Given the description of an element on the screen output the (x, y) to click on. 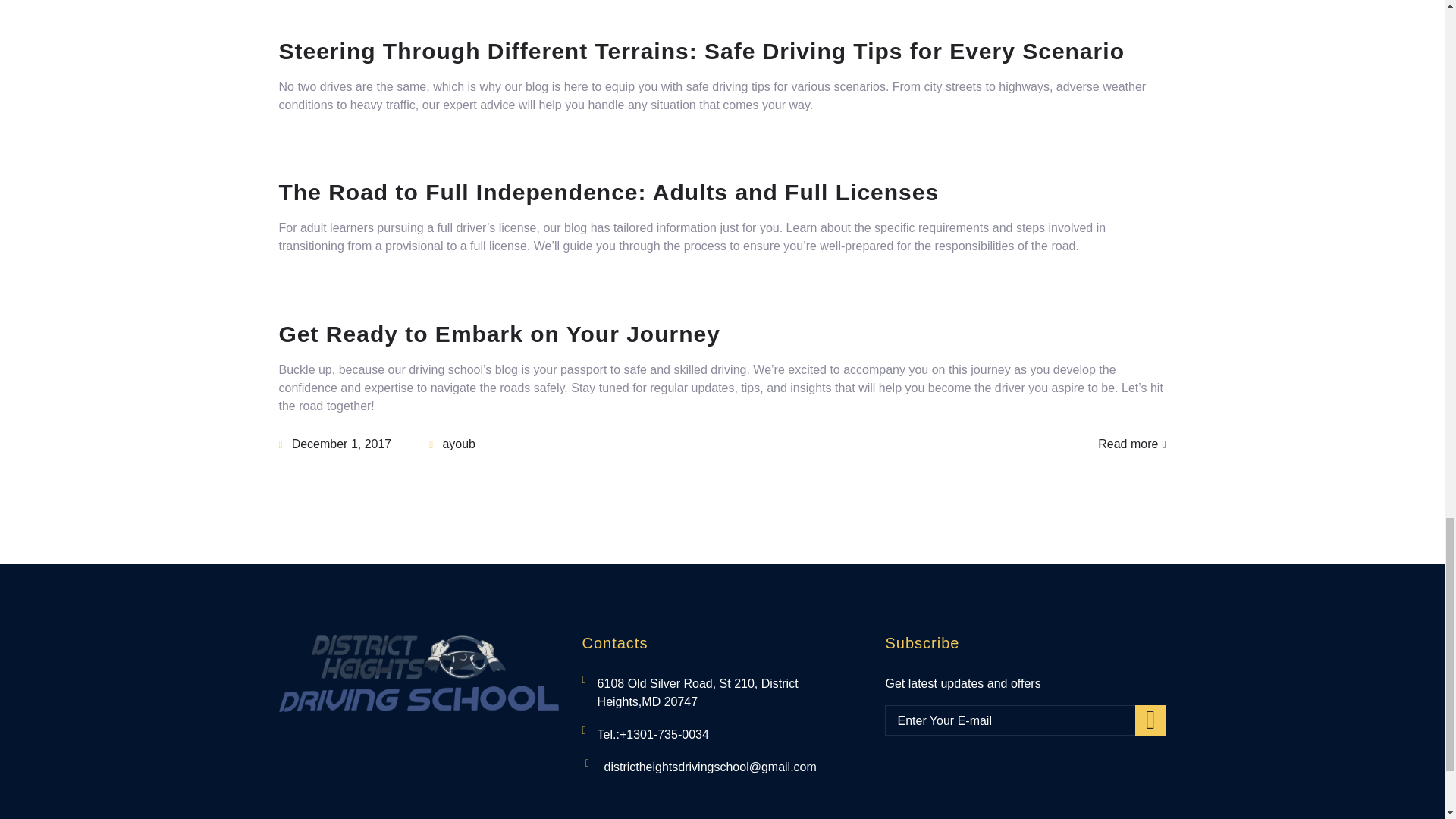
ayoub (452, 443)
Read more (1131, 444)
December 1, 2017 (335, 443)
